Given the description of an element on the screen output the (x, y) to click on. 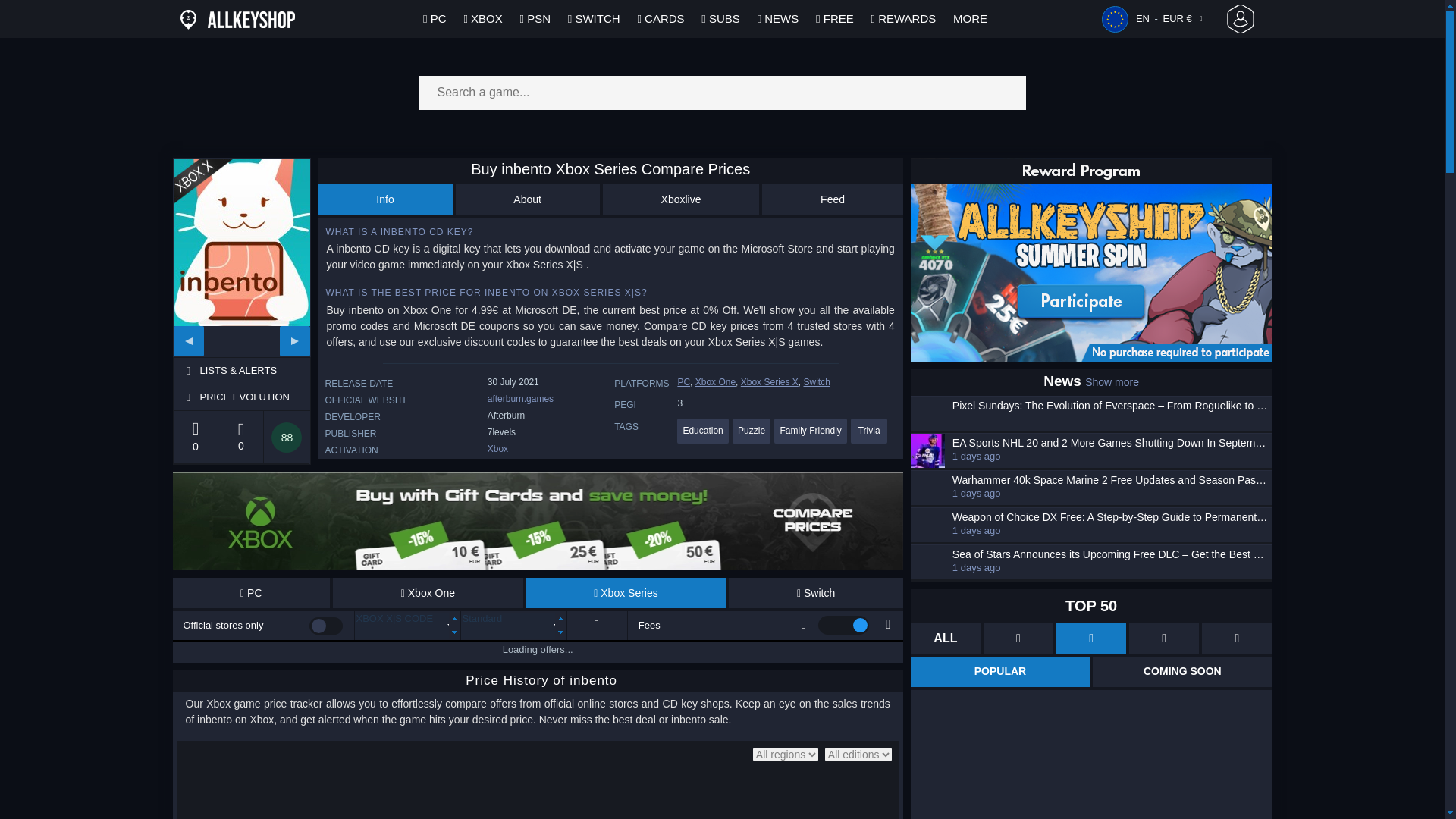
Xbox keys (497, 448)
 PC (251, 593)
Price evolution (252, 396)
PSN (535, 18)
XBOX (482, 18)
SWITCH (594, 18)
